Given the description of an element on the screen output the (x, y) to click on. 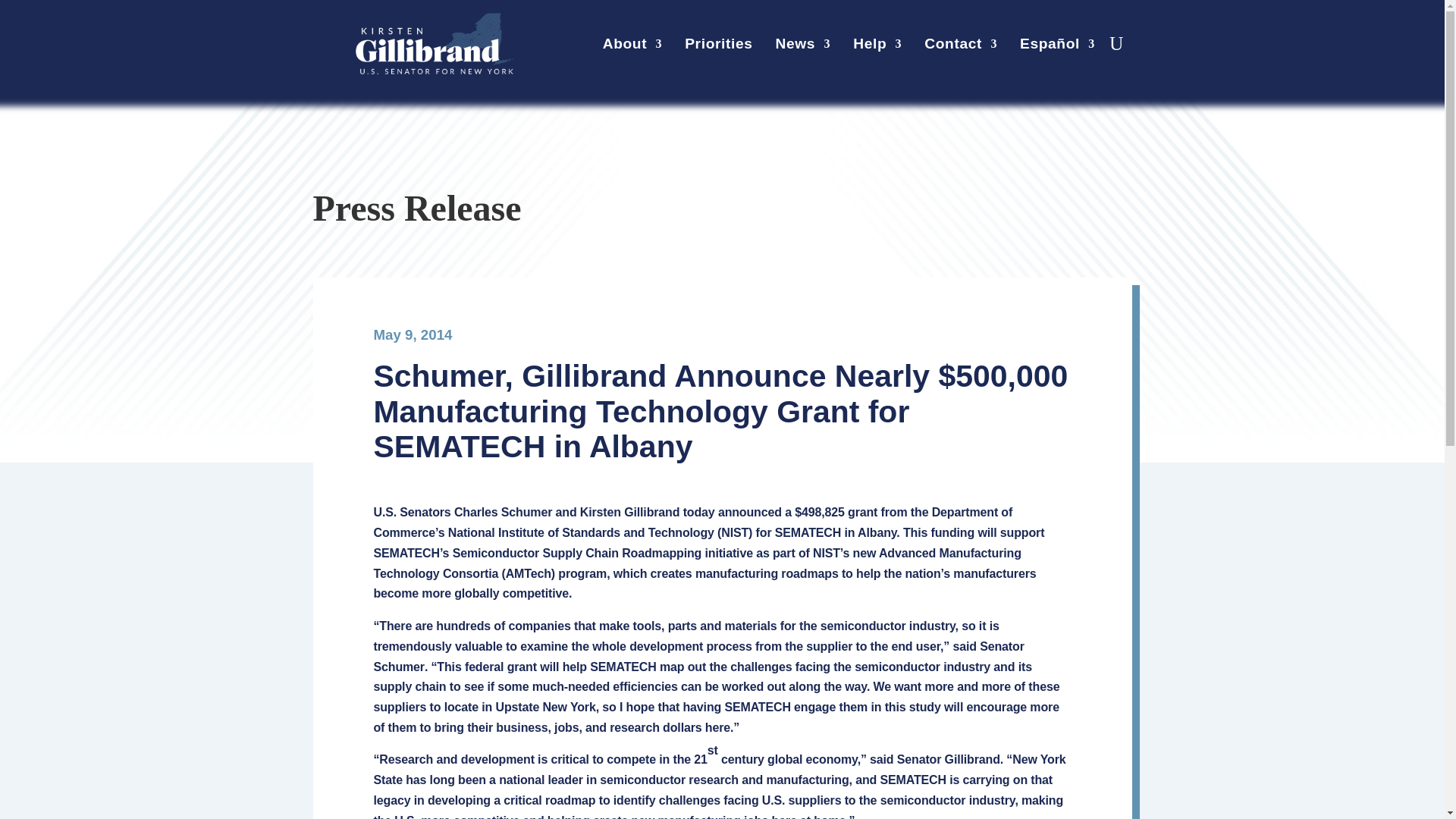
gillibrand-logo (434, 43)
About (632, 46)
Contact (960, 46)
News (803, 46)
Help (877, 46)
Priorities (718, 46)
